Given the description of an element on the screen output the (x, y) to click on. 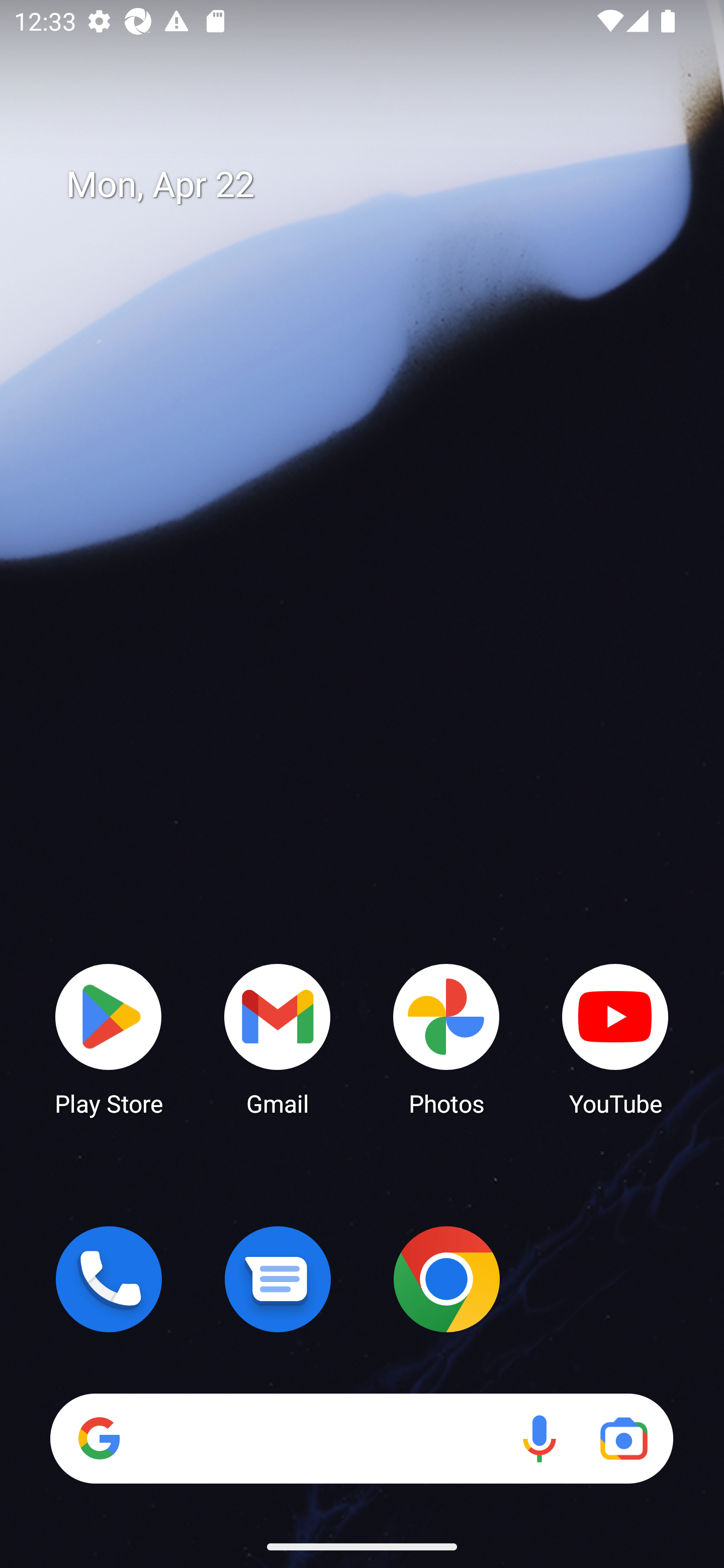
Mon, Apr 22 (375, 184)
Play Store (108, 1038)
Gmail (277, 1038)
Photos (445, 1038)
YouTube (615, 1038)
Phone (108, 1279)
Messages (277, 1279)
Chrome (446, 1279)
Search Voice search Google Lens (361, 1438)
Voice search (539, 1438)
Google Lens (623, 1438)
